Given the description of an element on the screen output the (x, y) to click on. 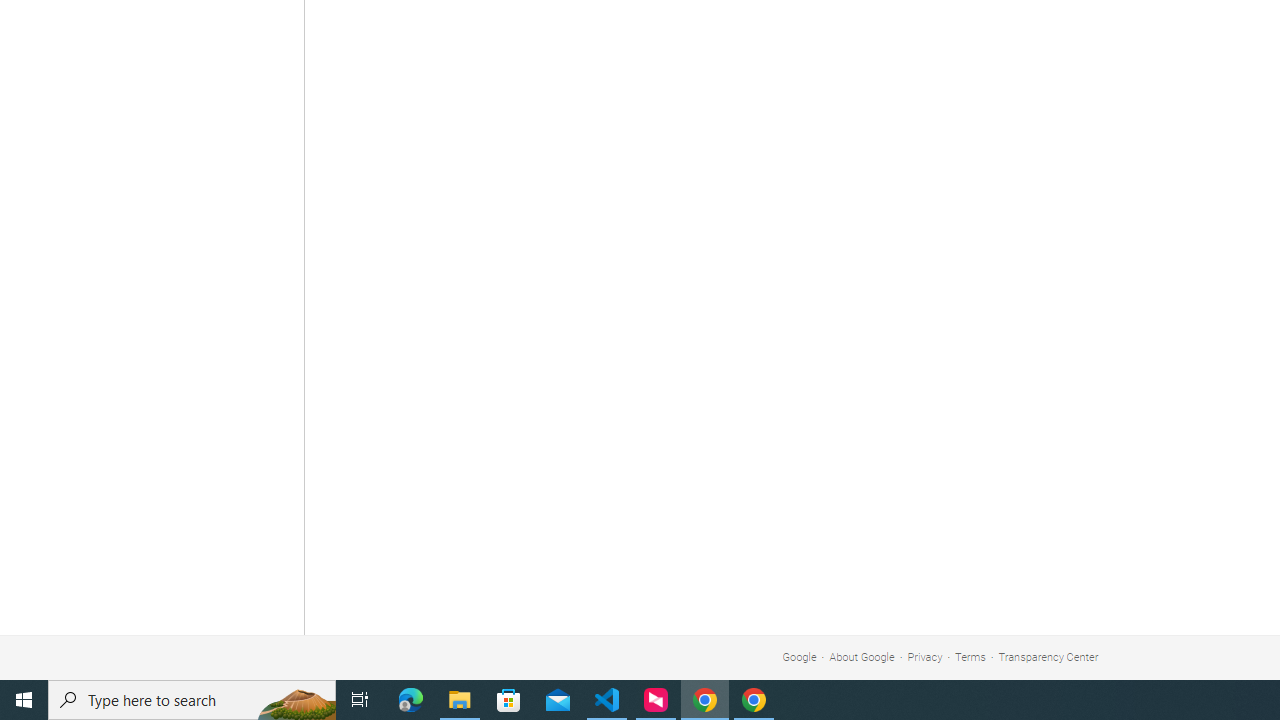
Transparency Center (1048, 656)
About Google (861, 656)
